Given the description of an element on the screen output the (x, y) to click on. 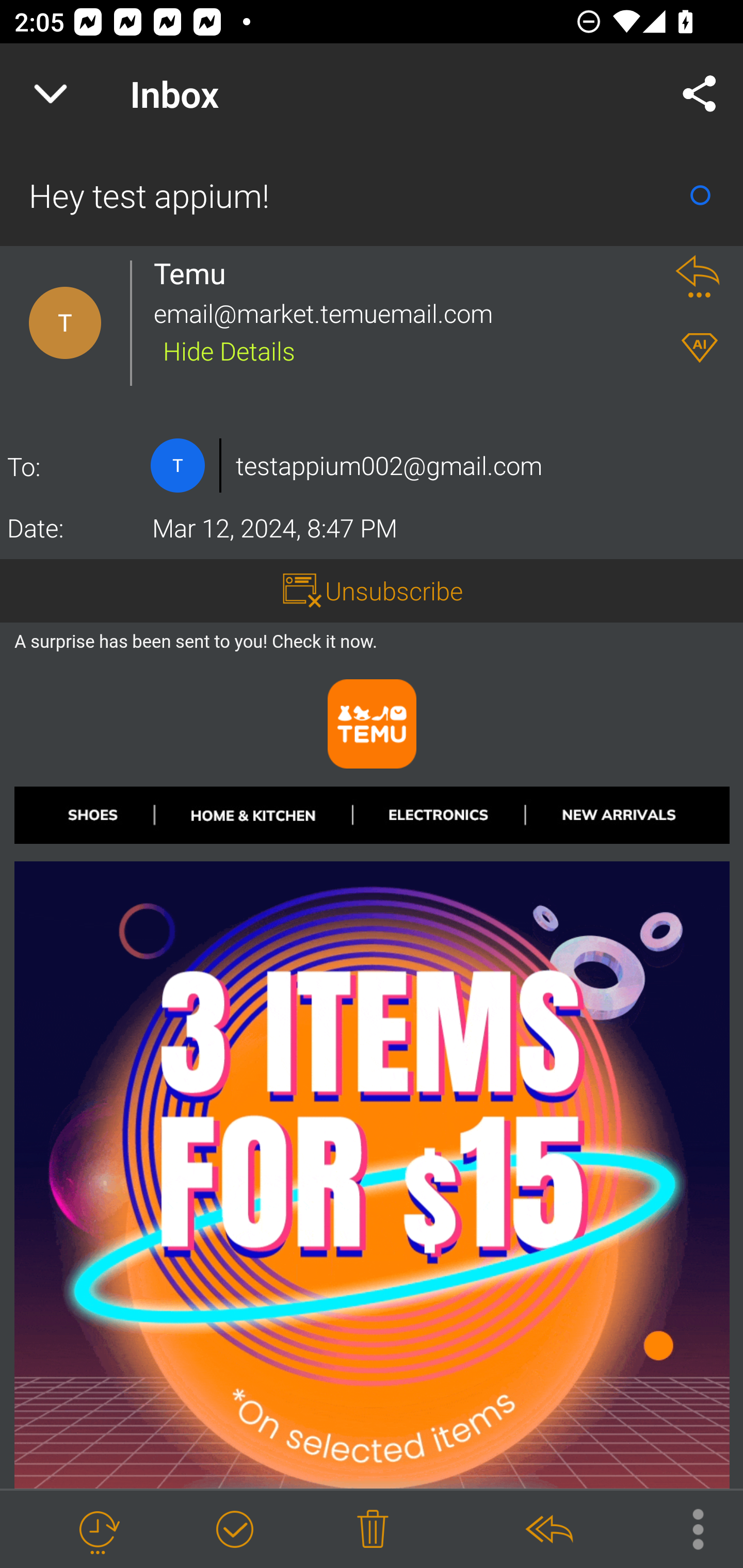
Navigate up (50, 93)
Share (699, 93)
Mark as Read (699, 194)
Temu (195, 273)
Contact Details (64, 322)
Hide Details (228, 349)
Contact Details (177, 465)
testappium002@gmail.com (388, 465)
Unsubscribe (393, 590)
b57e34972bcbfa1b19ebc9d9493bcf96 (372, 1107)
More Options (687, 1528)
Snooze (97, 1529)
Mark as Done (234, 1529)
Delete (372, 1529)
Reply All (548, 1529)
